Given the description of an element on the screen output the (x, y) to click on. 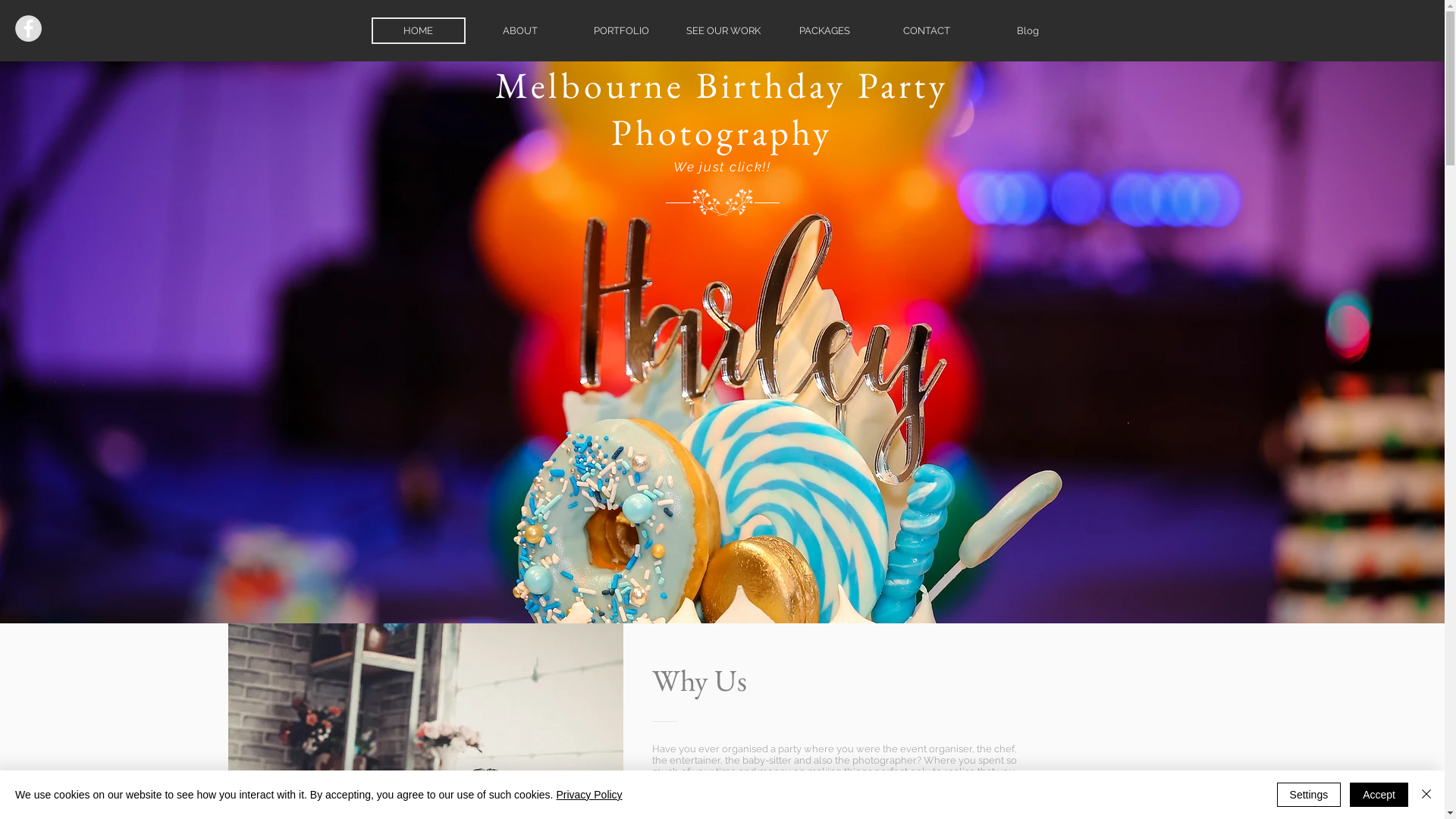
We just click!! Element type: text (722, 166)
HOME Element type: text (418, 30)
Settings Element type: text (1309, 794)
Privacy Policy Element type: text (588, 794)
PORTFOLIO Element type: text (621, 30)
Accept Element type: text (1378, 794)
Blog Element type: text (1027, 30)
CONTACT Element type: text (926, 30)
Melbourne Birthday Party Photography Element type: text (721, 108)
ABOUT Element type: text (520, 30)
SEE OUR WORK Element type: text (723, 30)
PACKAGES Element type: text (825, 30)
